Given the description of an element on the screen output the (x, y) to click on. 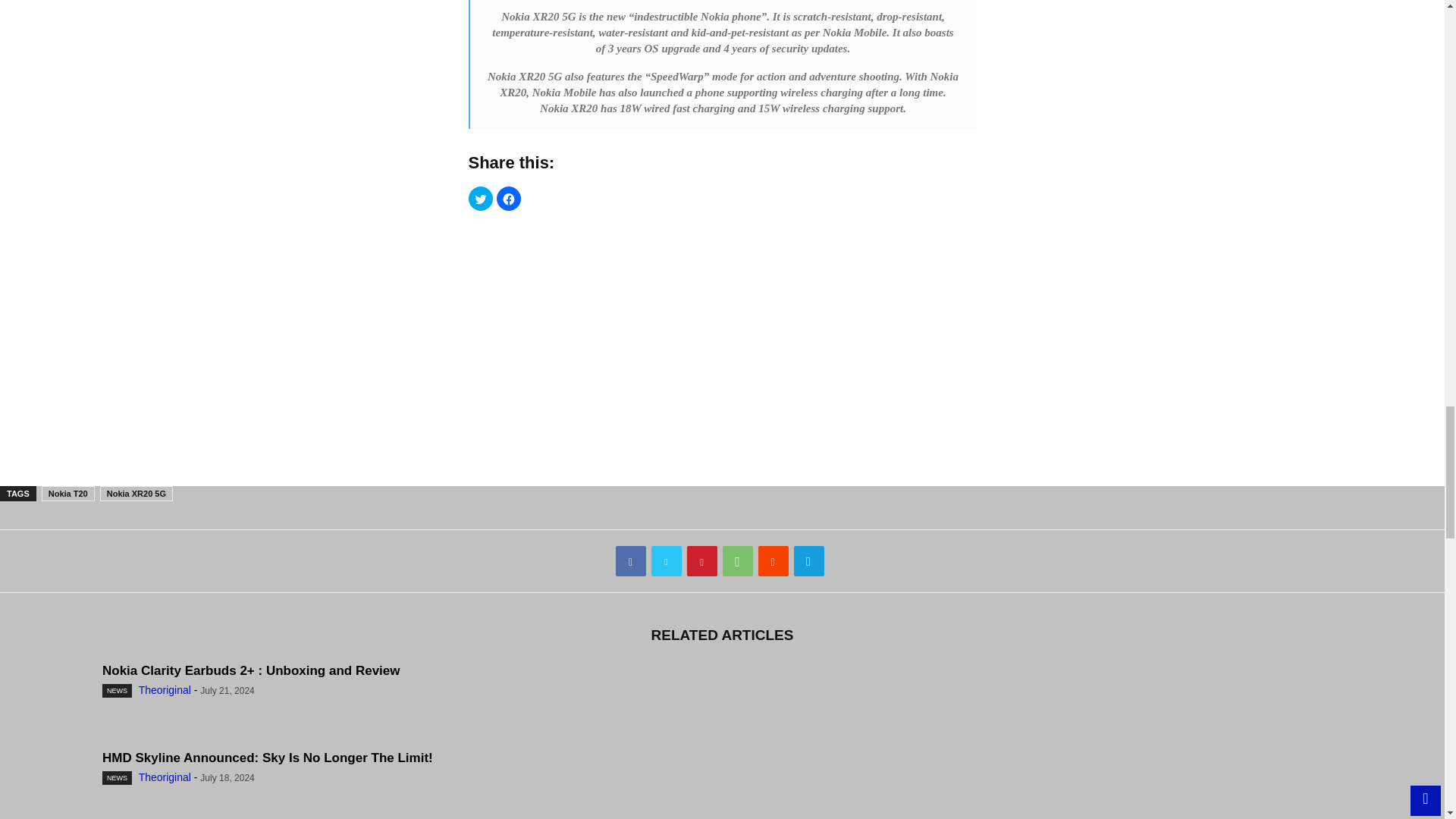
Click to share on Twitter (480, 198)
NEWS (116, 777)
Theoriginal (164, 776)
Nokia T20 (68, 493)
Telegram (808, 561)
Theoriginal (164, 689)
Pinterest (702, 561)
Click to share on Facebook (507, 198)
WhatsApp (737, 561)
Click to share on Mastodon (536, 198)
Twitter (665, 561)
Facebook (630, 561)
ReddIt (773, 561)
NEWS (116, 690)
Nokia XR20 5G (136, 493)
